Given the description of an element on the screen output the (x, y) to click on. 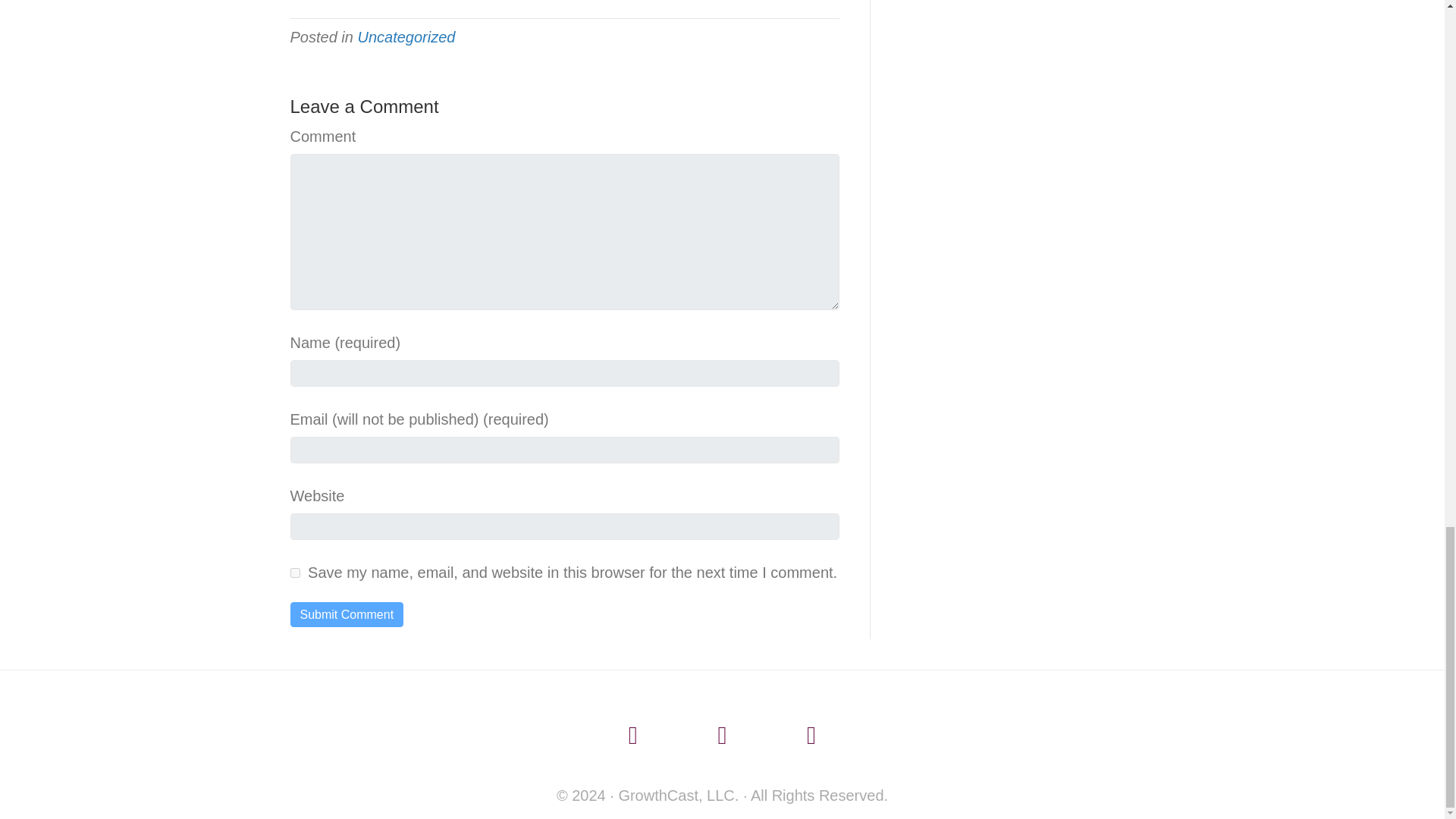
yes (294, 573)
Submit Comment (346, 614)
Uncategorized (405, 36)
Submit Comment (346, 614)
